Given the description of an element on the screen output the (x, y) to click on. 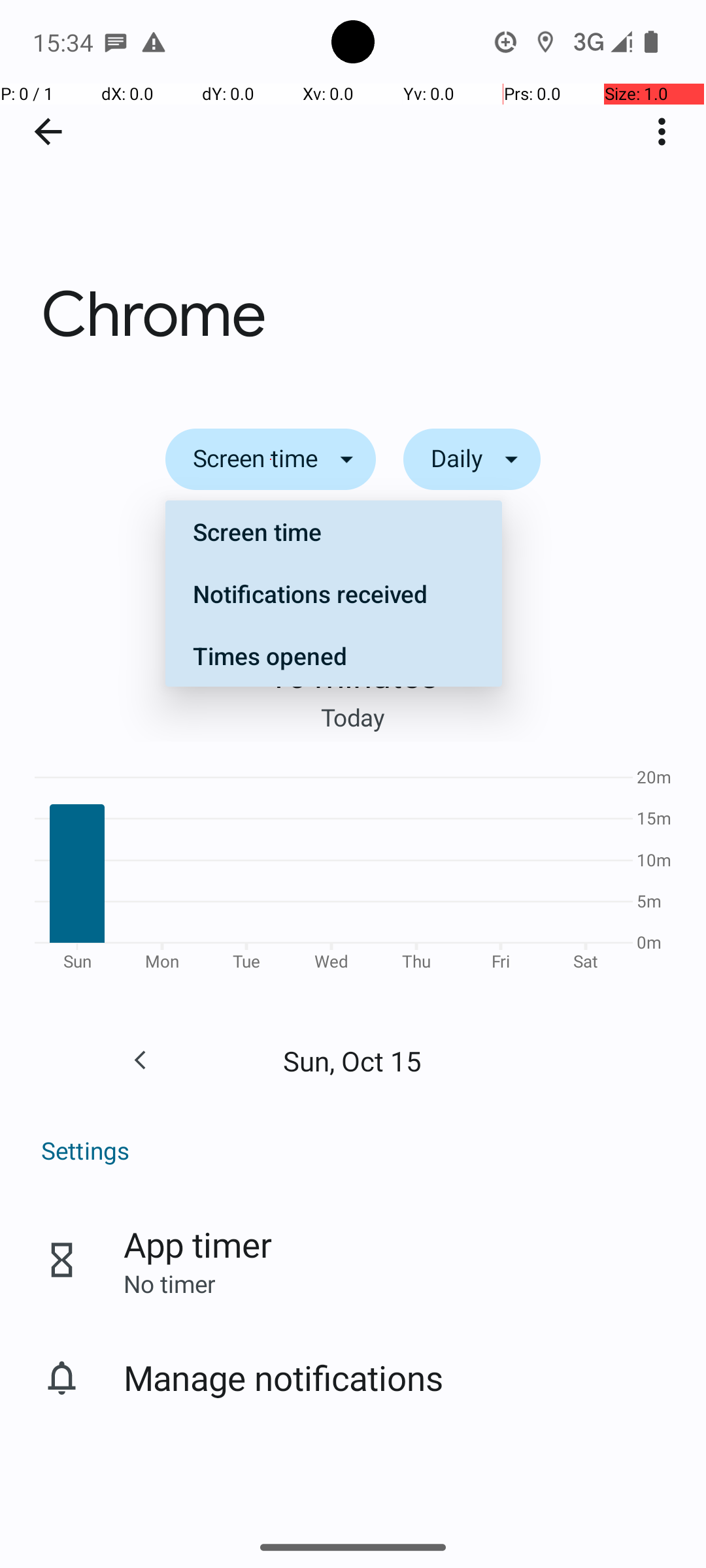
Notifications received Element type: android.widget.TextView (333, 593)
Times opened Element type: android.widget.TextView (333, 655)
